Given the description of an element on the screen output the (x, y) to click on. 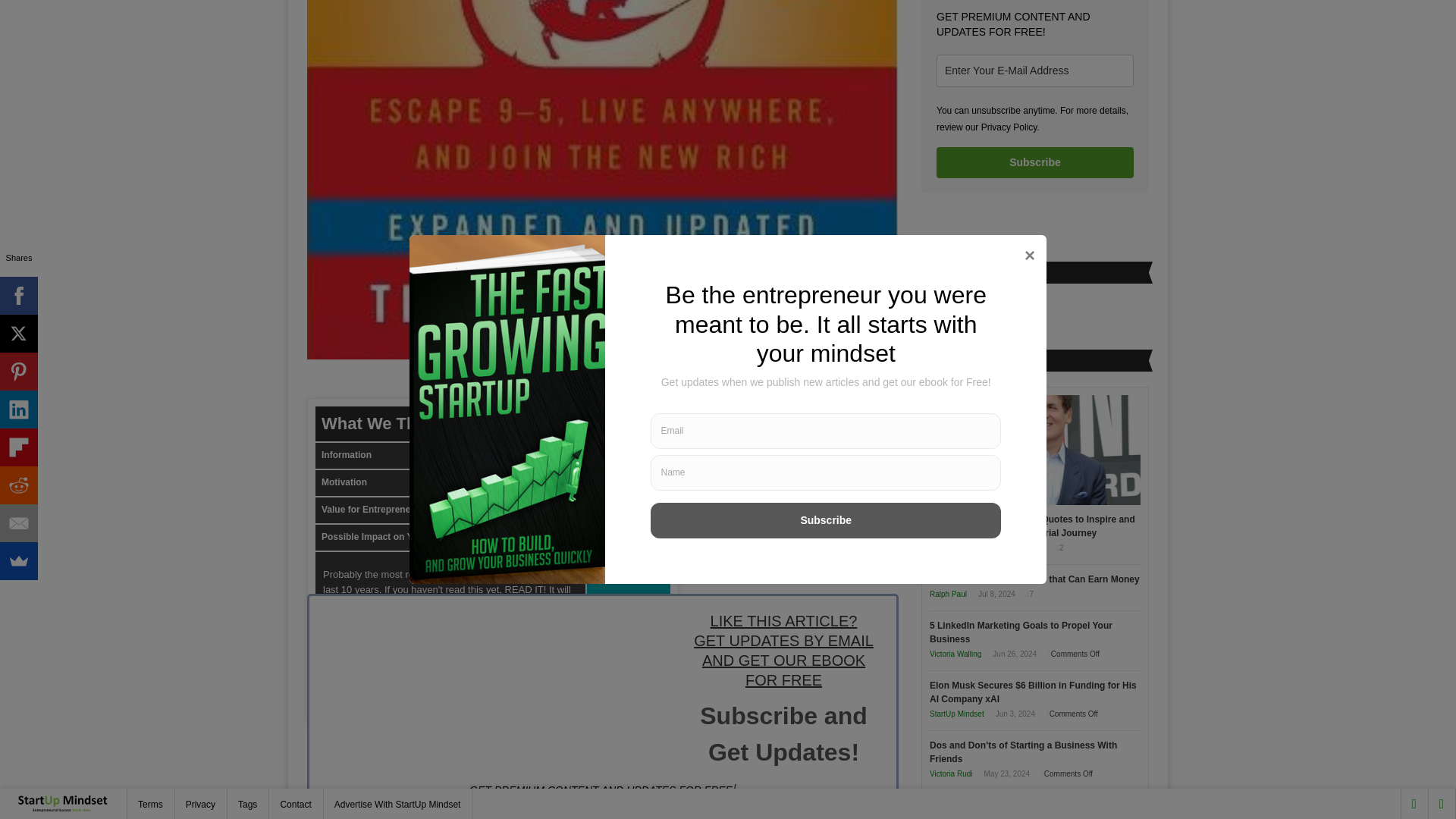
Subscribe Now (783, 817)
